Given the description of an element on the screen output the (x, y) to click on. 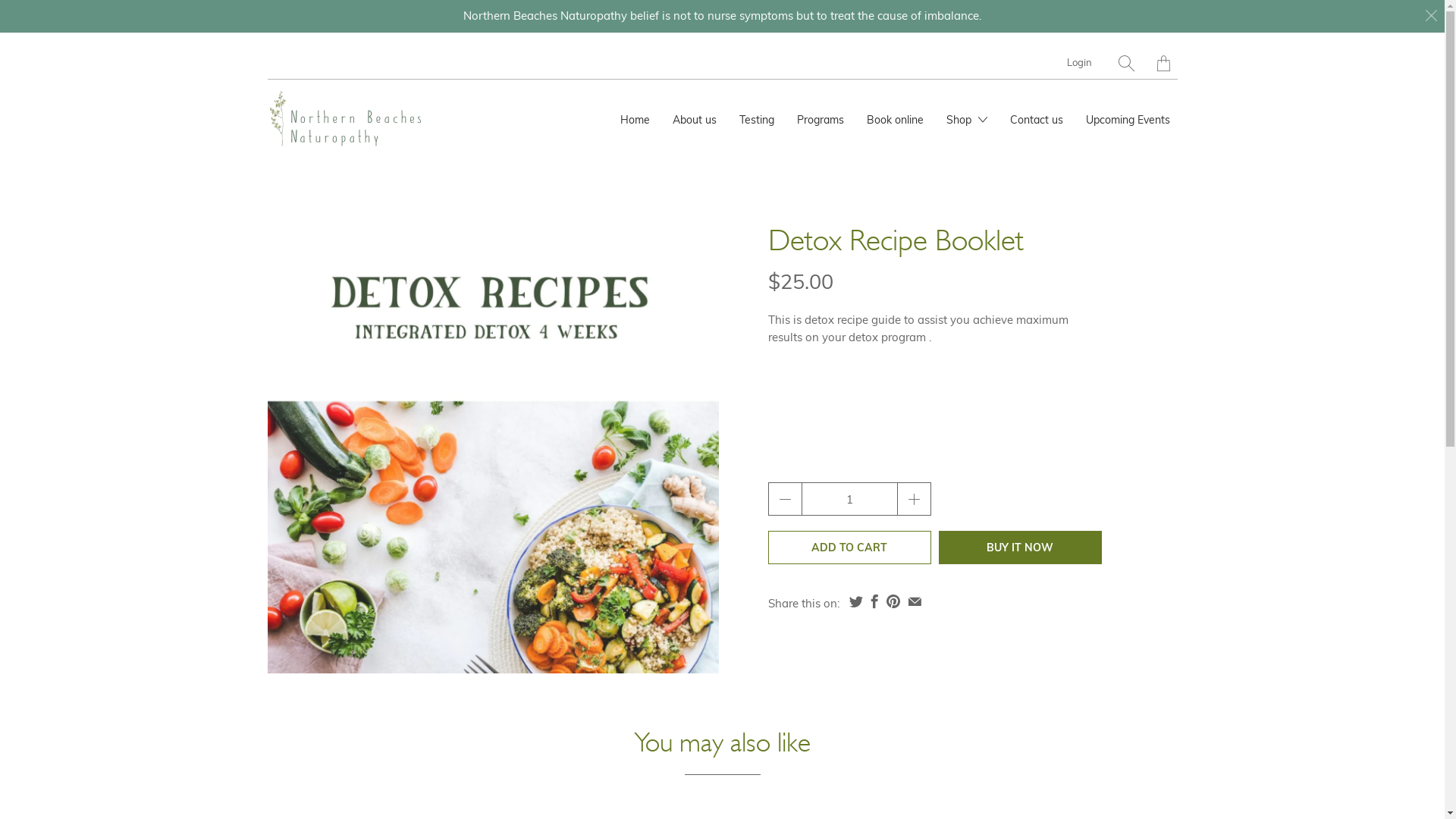
About us Element type: text (693, 119)
Search Element type: hover (1125, 62)
Programs Element type: text (819, 119)
Share this on Facebook Element type: hover (874, 601)
Share this on Pinterest Element type: hover (893, 601)
Home Element type: text (634, 119)
Contact us Element type: text (1036, 119)
Shop Element type: text (966, 119)
Testing Element type: text (756, 119)
Translation missing: en.layout.general.title Element type: text (1163, 62)
Upcoming Events Element type: text (1127, 119)
Login Element type: text (1078, 62)
Book online Element type: text (894, 119)
BUY IT NOW Element type: text (1019, 547)
Share this on Twitter Element type: hover (855, 601)
ADD TO CART Element type: text (848, 547)
Email this to a friend Element type: hover (913, 601)
